Given the description of an element on the screen output the (x, y) to click on. 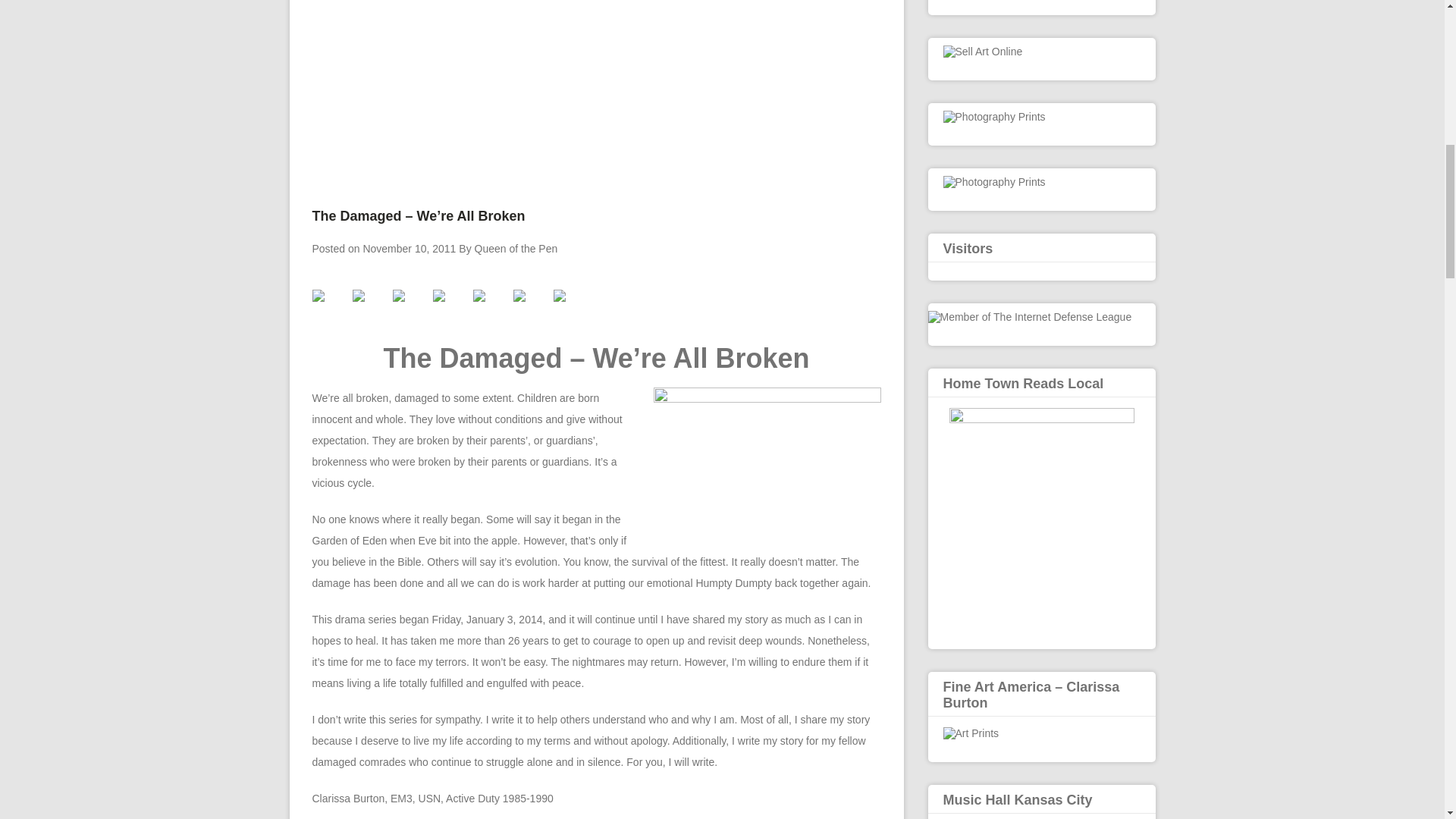
Share on tumblr (518, 295)
Share on Reddit (411, 307)
Share on Facebook (331, 307)
Share on Twitter (358, 295)
Share on Linkedin (478, 295)
Pin it with Pinterest (438, 295)
Share on Linkedin (491, 307)
Share on Facebook (318, 295)
Share on Reddit (398, 295)
Pin it with Pinterest (450, 307)
Share on tumblr (530, 307)
Share on Twitter (370, 307)
